Given the description of an element on the screen output the (x, y) to click on. 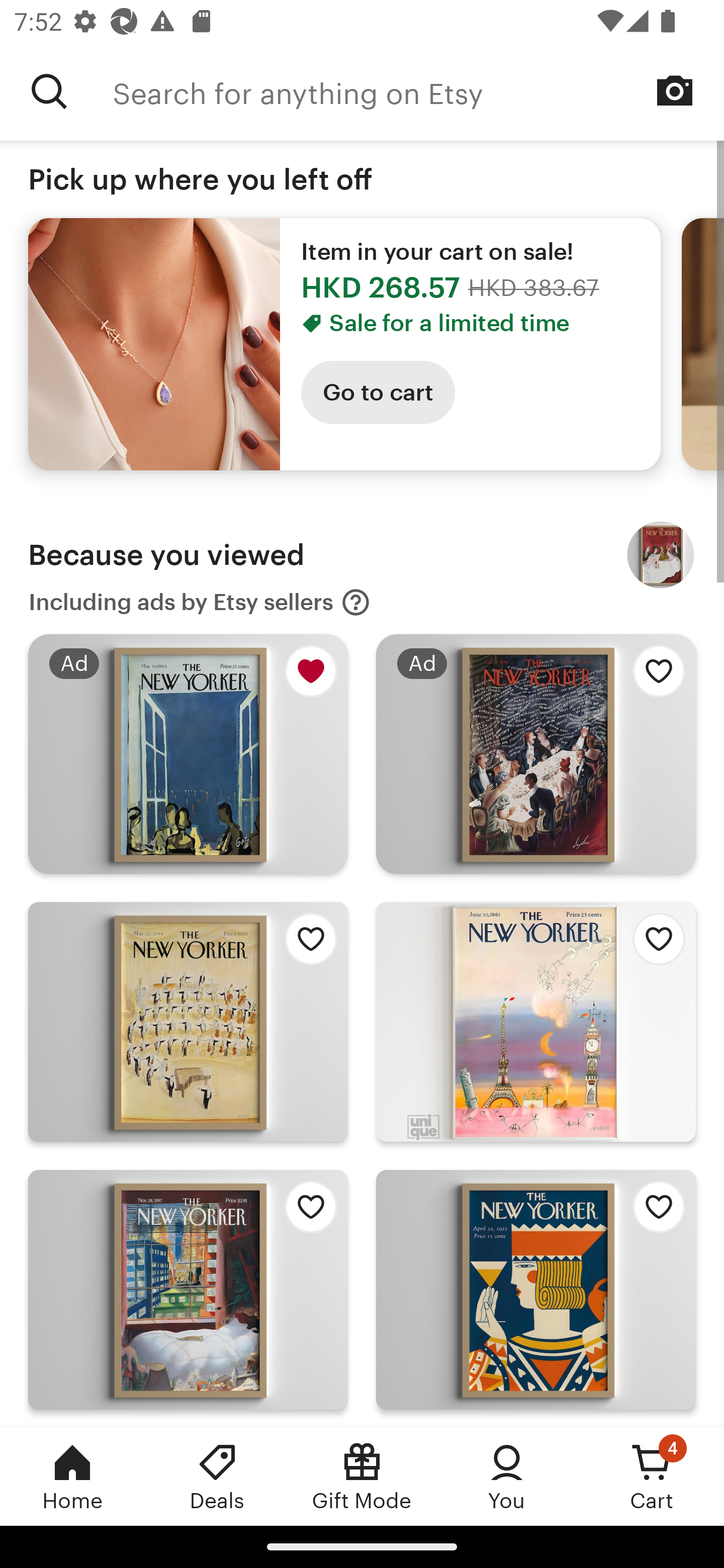
Search for anything on Etsy (49, 91)
Search by image (674, 90)
Search for anything on Etsy (418, 91)
Including ads by Etsy sellers (199, 601)
Deals (216, 1475)
Gift Mode (361, 1475)
You (506, 1475)
Cart, 4 new notifications Cart (651, 1475)
